Given the description of an element on the screen output the (x, y) to click on. 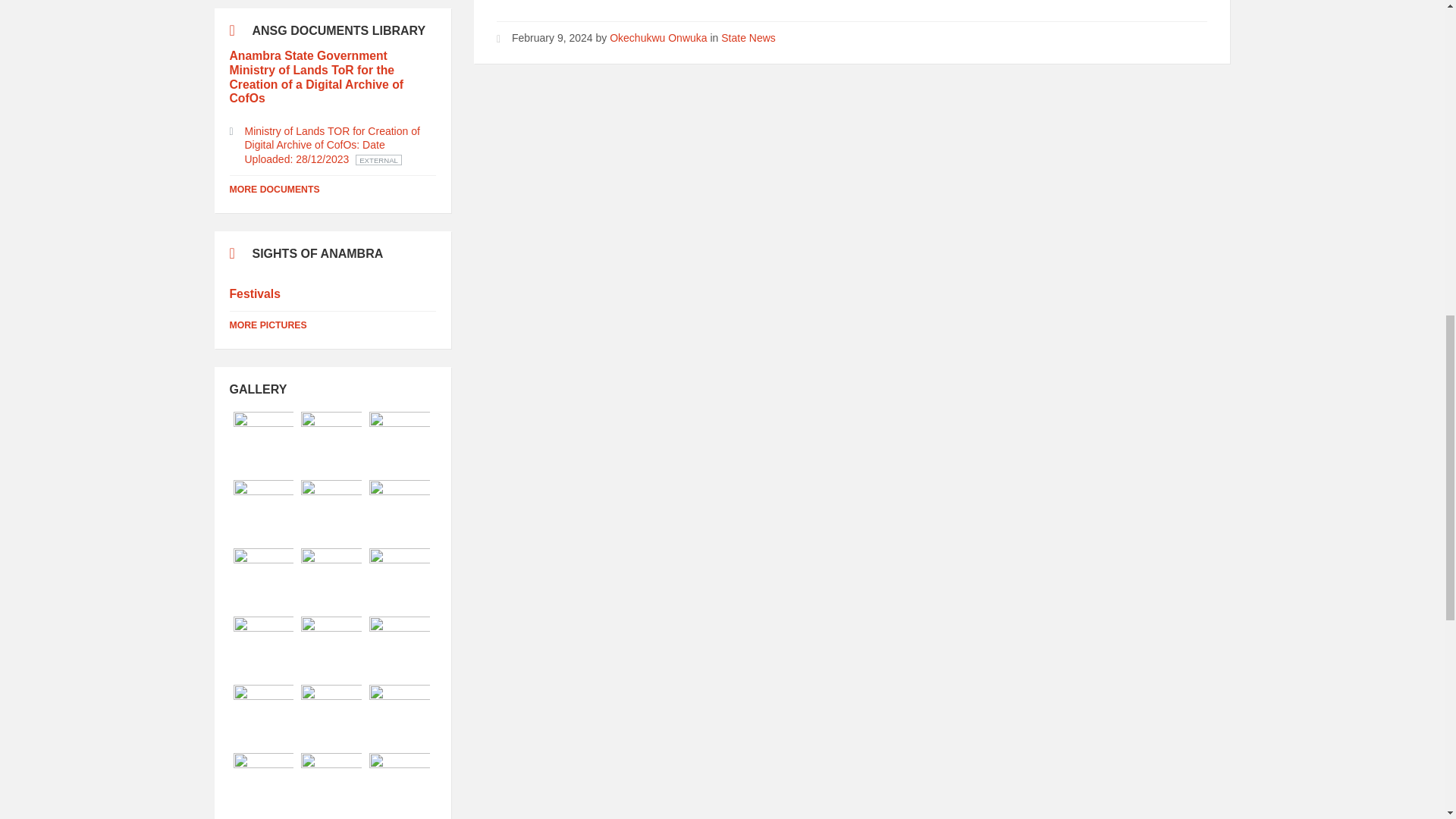
Okechukwu Onwuka (658, 37)
State News (748, 37)
Attachments (331, 145)
